Given the description of an element on the screen output the (x, y) to click on. 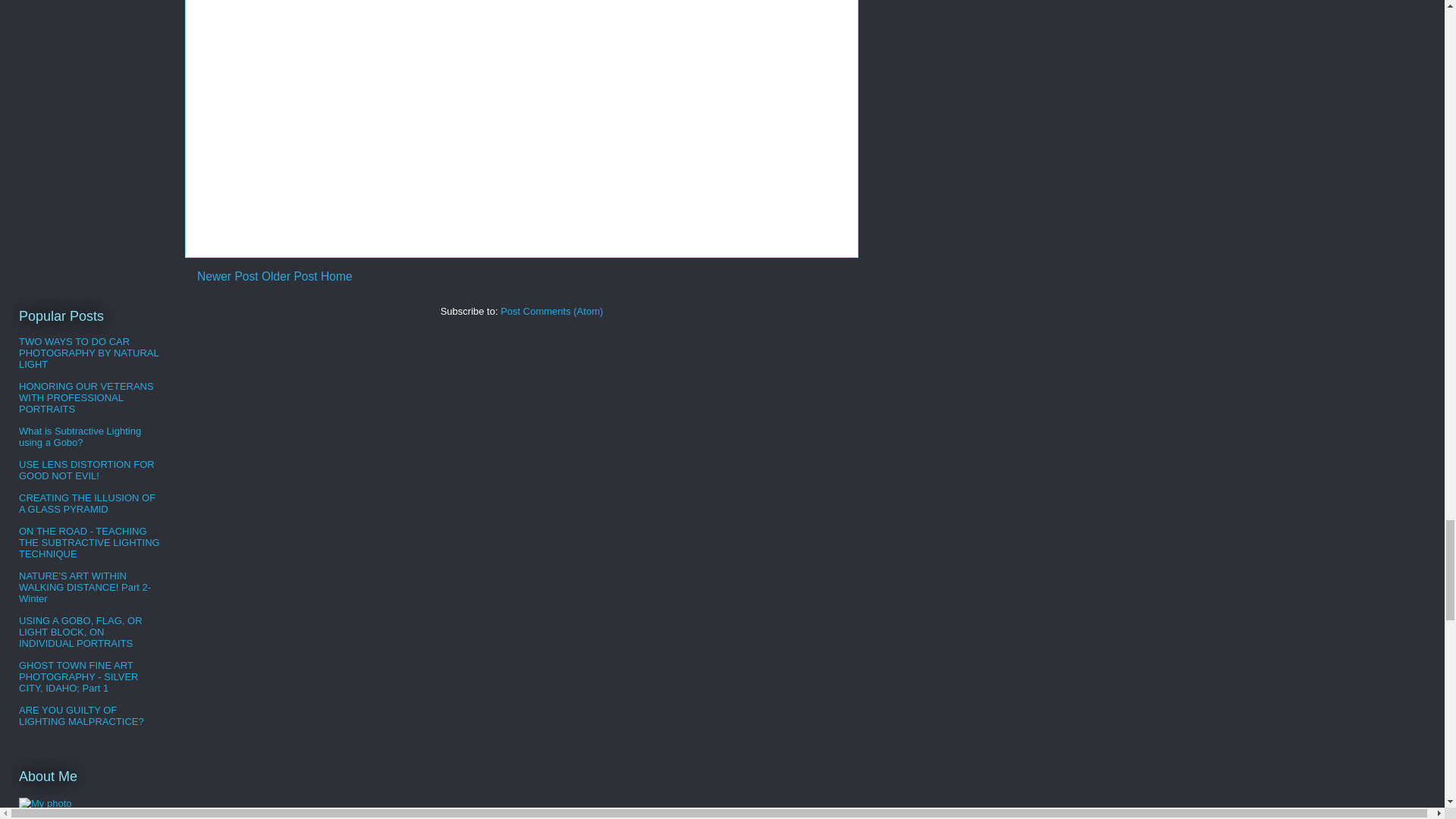
GHOST TOWN FINE ART PHOTOGRAPHY - SILVER CITY, IDAHO; Part 1 (78, 676)
Older Post (289, 276)
Newer Post (227, 276)
NATURE'S ART WITHIN WALKING DISTANCE! Part 2-Winter (84, 587)
Older Post (289, 276)
TWO WAYS TO DO CAR PHOTOGRAPHY BY NATURAL LIGHT (88, 352)
USE LENS DISTORTION FOR GOOD NOT EVIL! (86, 469)
HONORING OUR VETERANS WITH PROFESSIONAL PORTRAITS (86, 397)
CREATING THE ILLUSION OF A GLASS PYRAMID (86, 503)
USING A GOBO, FLAG, OR LIGHT BLOCK, ON INDIVIDUAL PORTRAITS (80, 632)
Home (336, 276)
ON THE ROAD - TEACHING THE SUBTRACTIVE LIGHTING TECHNIQUE (89, 542)
What is Subtractive Lighting using a Gobo? (79, 436)
Newer Post (227, 276)
